Given the description of an element on the screen output the (x, y) to click on. 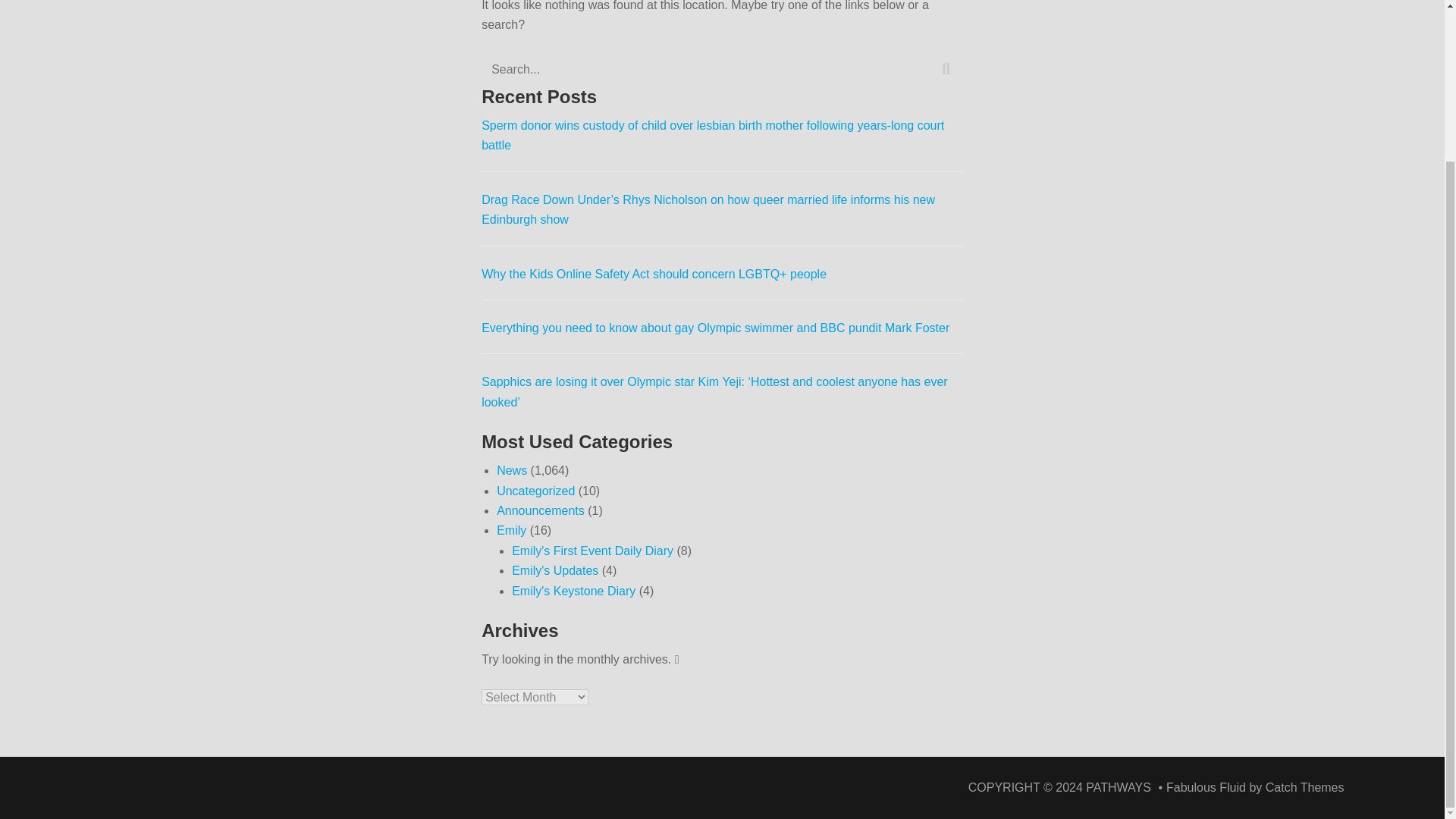
Search for: (722, 69)
